Given the description of an element on the screen output the (x, y) to click on. 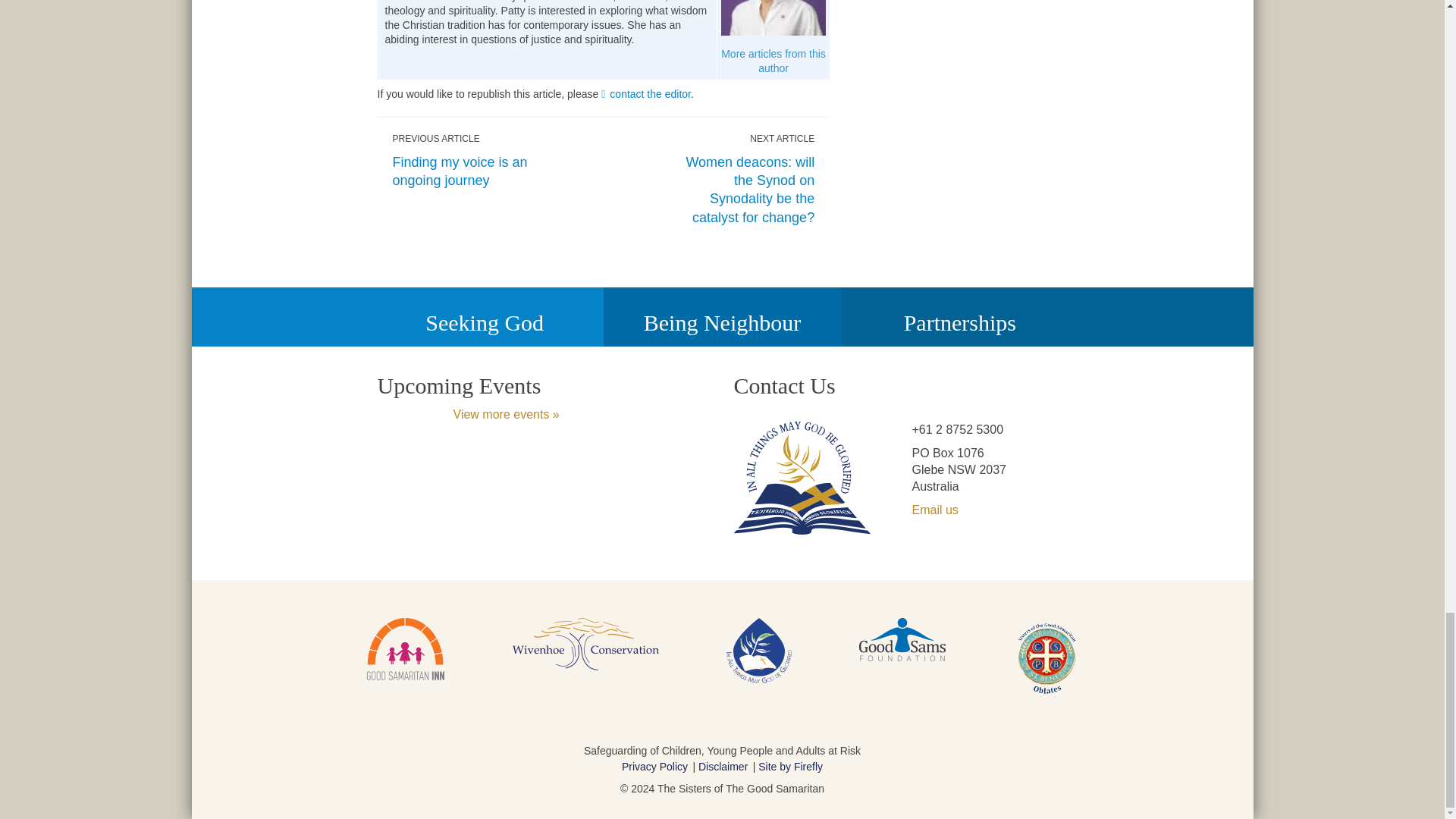
Website by Firefly Interactive (790, 766)
